Given the description of an element on the screen output the (x, y) to click on. 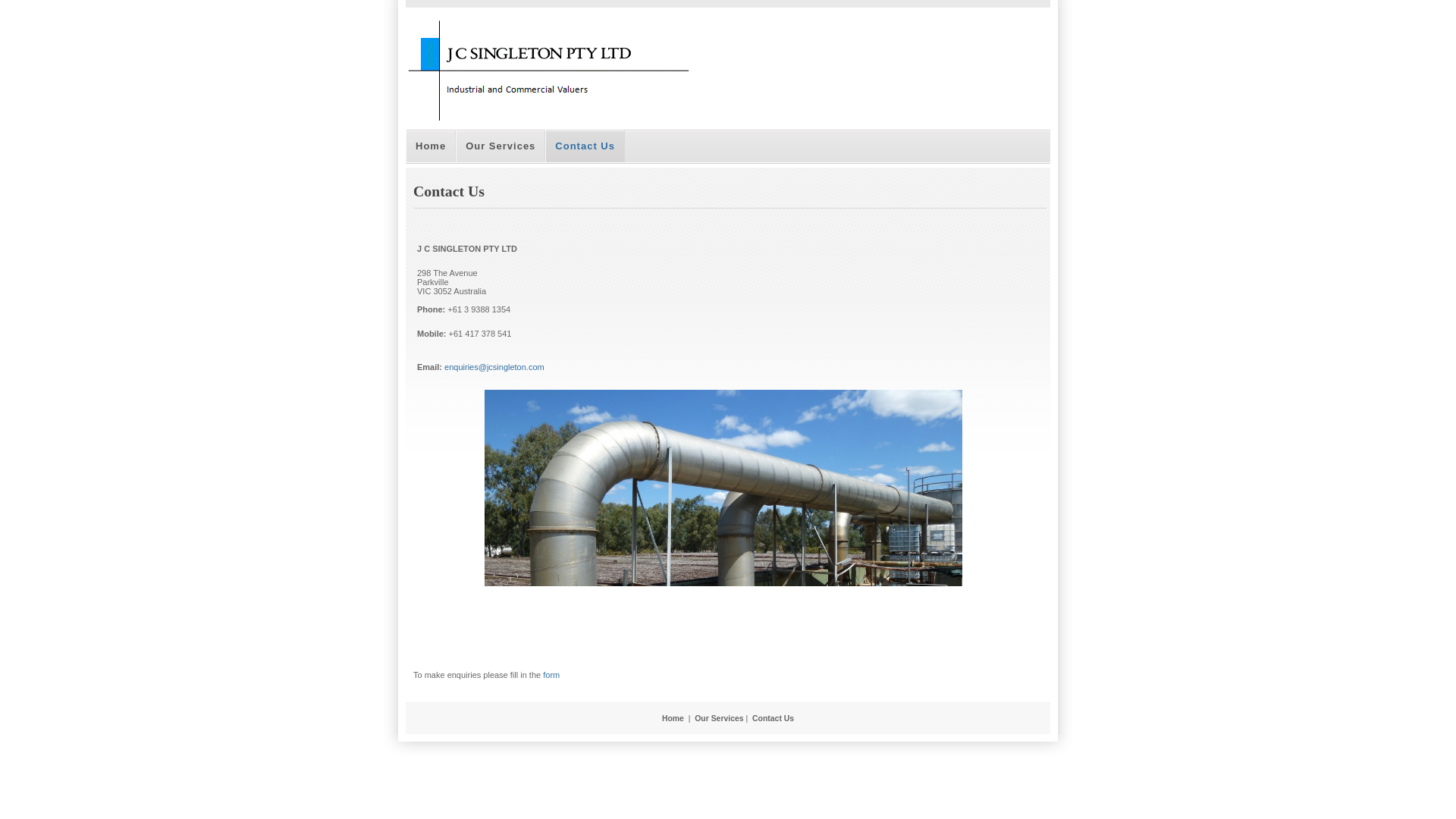
Home Element type: text (673, 718)
Contact Us Element type: text (772, 718)
Our Services Element type: text (500, 145)
Contact Us Element type: text (584, 145)
form Element type: text (550, 674)
Home Element type: text (430, 145)
Our Services Element type: text (718, 718)
enquiries@jcsingleton.com Element type: text (494, 366)
